Given the description of an element on the screen output the (x, y) to click on. 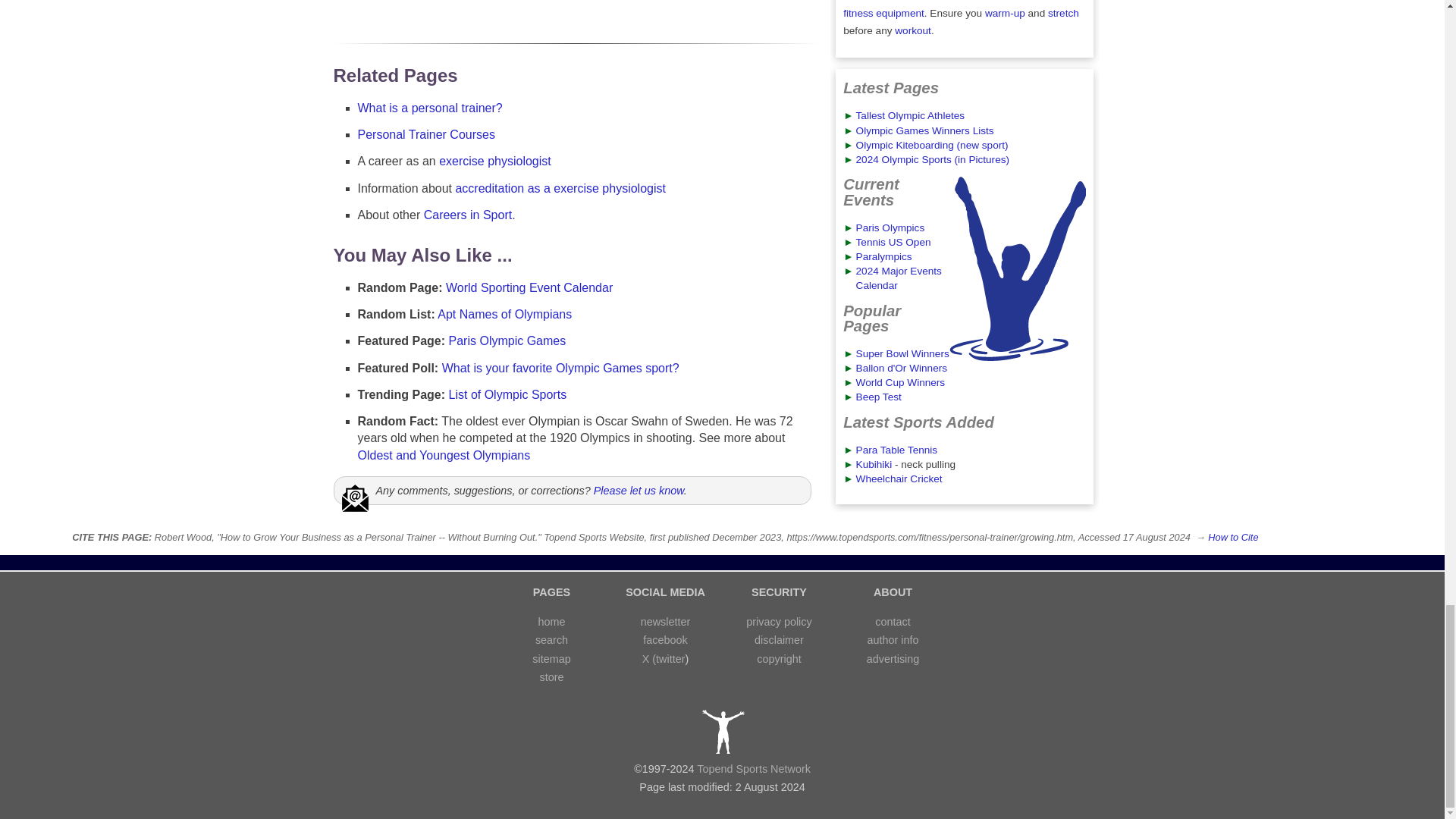
Apt Names of Olympians (505, 314)
Personal Trainer Courses (426, 133)
exercise physiologist (495, 160)
World Sporting Event Calendar (528, 287)
Please let us know (639, 490)
Careers in Sport (467, 214)
accreditation as a exercise physiologist (559, 187)
List of Olympic Sports (507, 394)
Oldest and Youngest Olympians (444, 454)
Paris Olympic Games (507, 340)
